Given the description of an element on the screen output the (x, y) to click on. 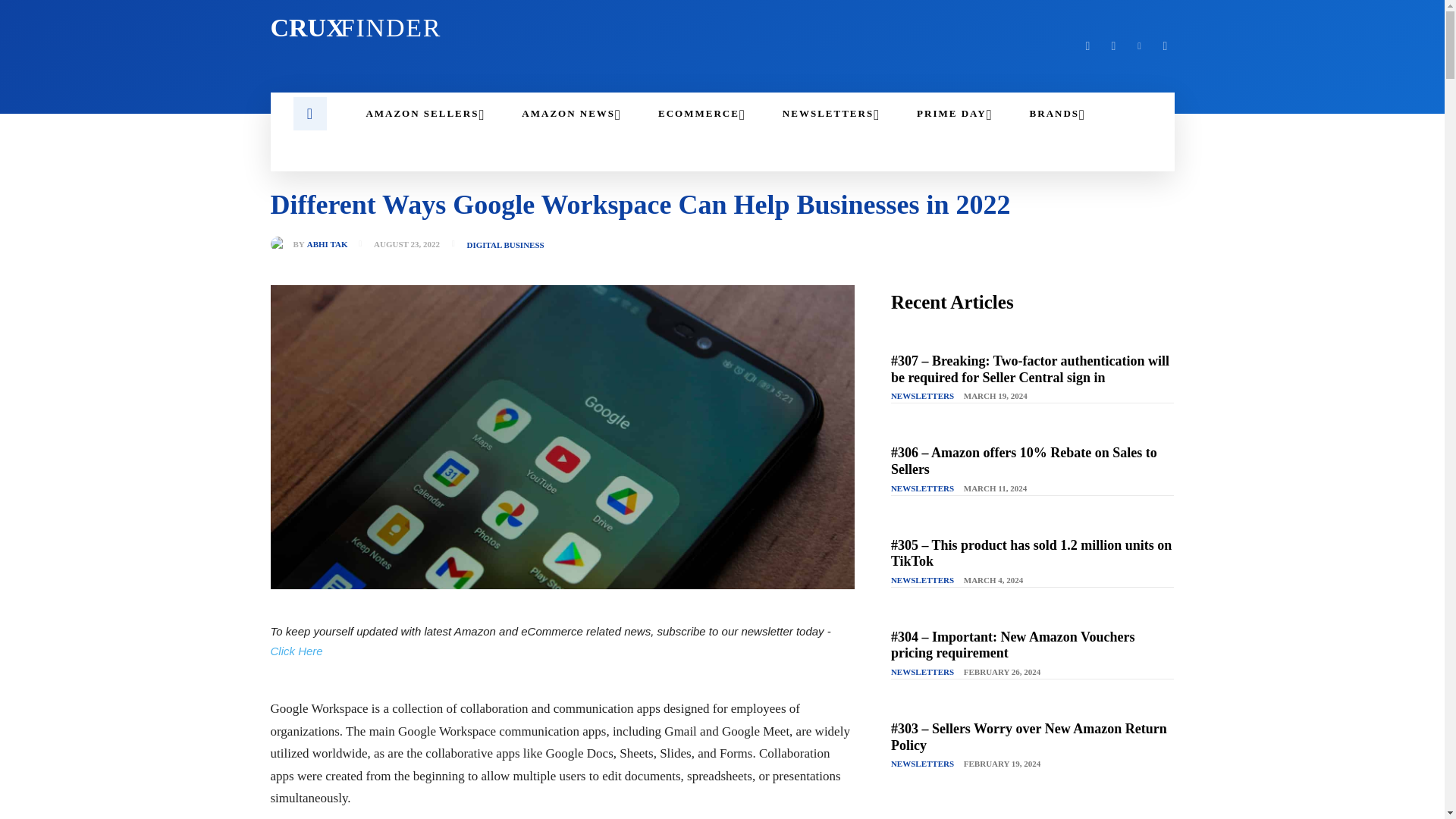
Instagram (1112, 45)
Facebook (1087, 45)
Linkedin (1138, 45)
AMAZON SELLERS (486, 27)
AMAZON NEWS (425, 113)
Twitter (571, 113)
